Given the description of an element on the screen output the (x, y) to click on. 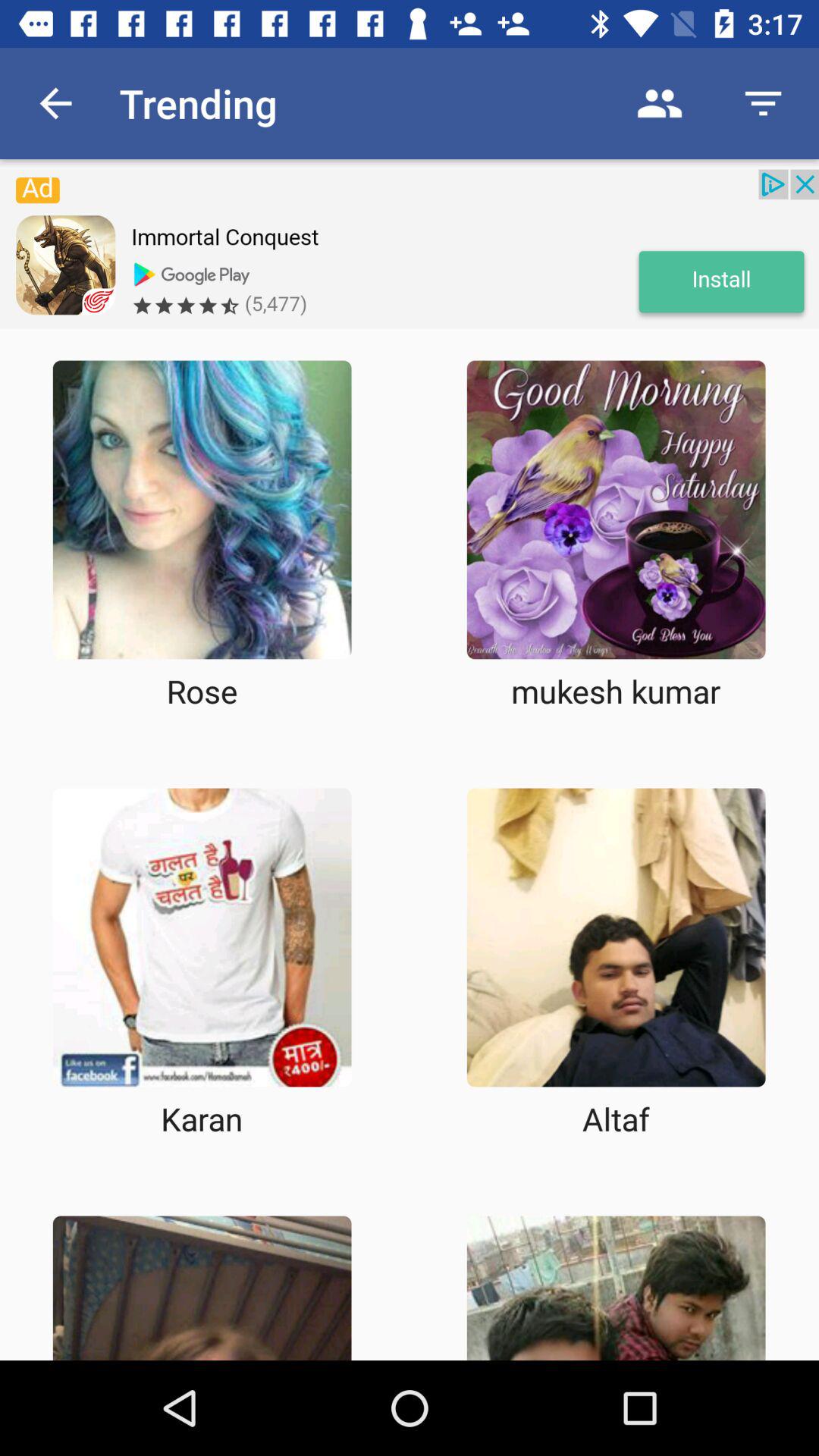
select option (615, 509)
